Given the description of an element on the screen output the (x, y) to click on. 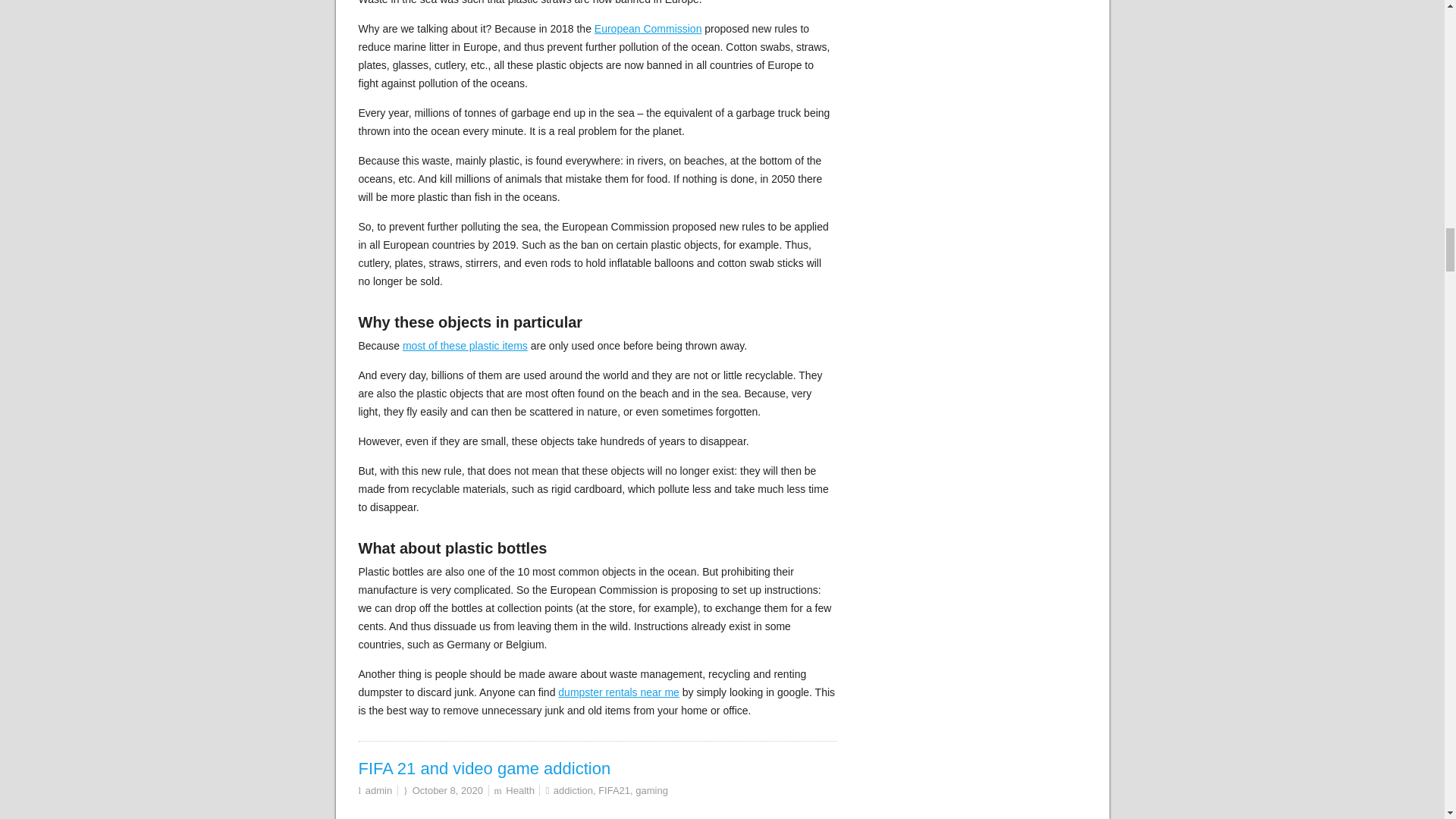
FIFA 21 Review (596, 809)
European Commission (647, 28)
Posts by admin (378, 790)
most of these plastic items (465, 345)
